Given the description of an element on the screen output the (x, y) to click on. 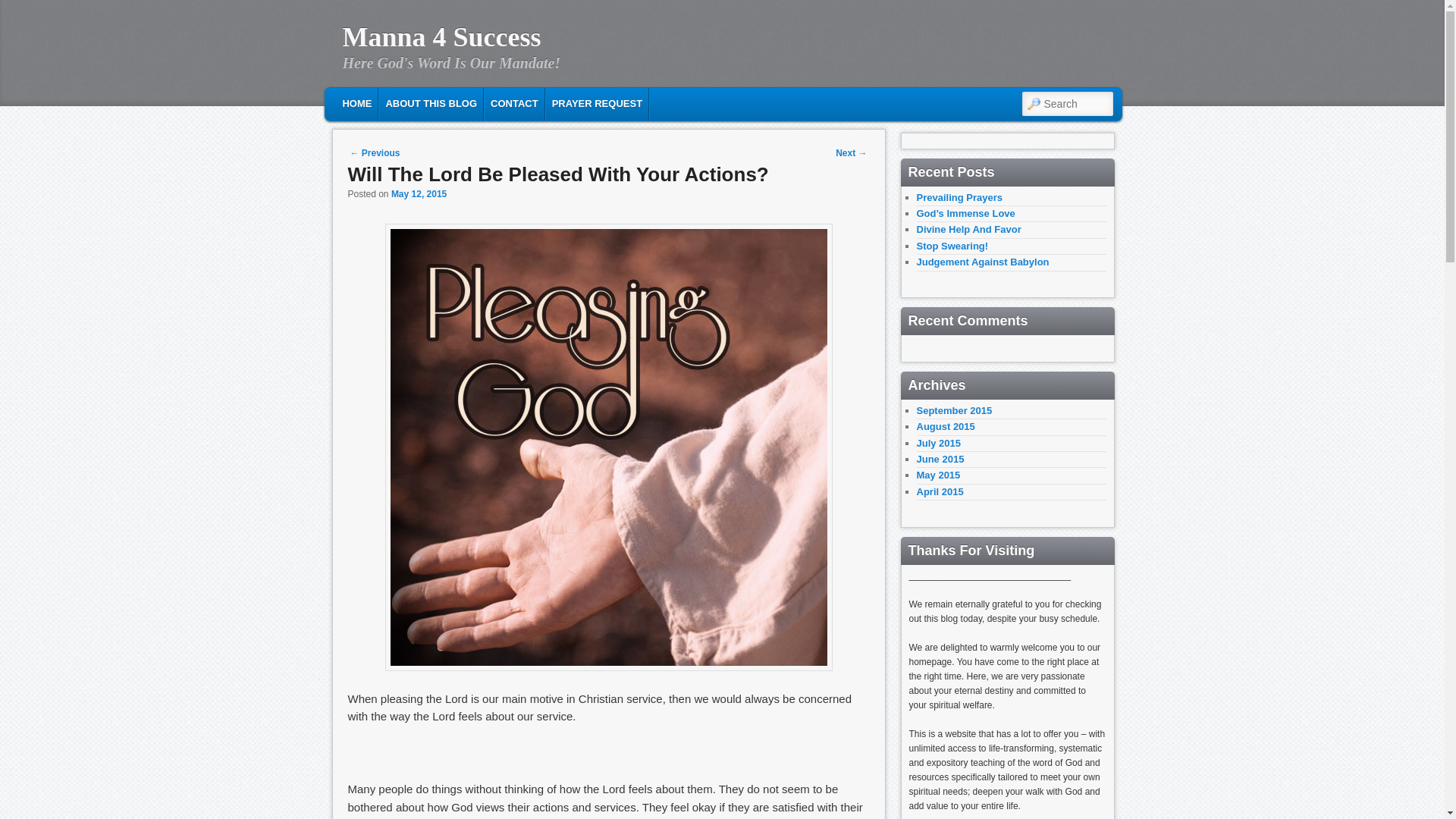
May 12, 2015 (418, 194)
PRAYER REQUEST (596, 103)
Prevailing Prayers (958, 196)
June 2015 (939, 459)
Divine Help And Favor (967, 229)
SKIP TO PRIMARY CONTENT (421, 102)
1:47 pm (418, 194)
September 2015 (953, 410)
ABOUT THIS BLOG (430, 103)
HOME (356, 103)
Search (21, 11)
Manna 4 Success (441, 37)
July 2015 (937, 442)
CONTACT (514, 103)
Skip to primary content (421, 102)
